Given the description of an element on the screen output the (x, y) to click on. 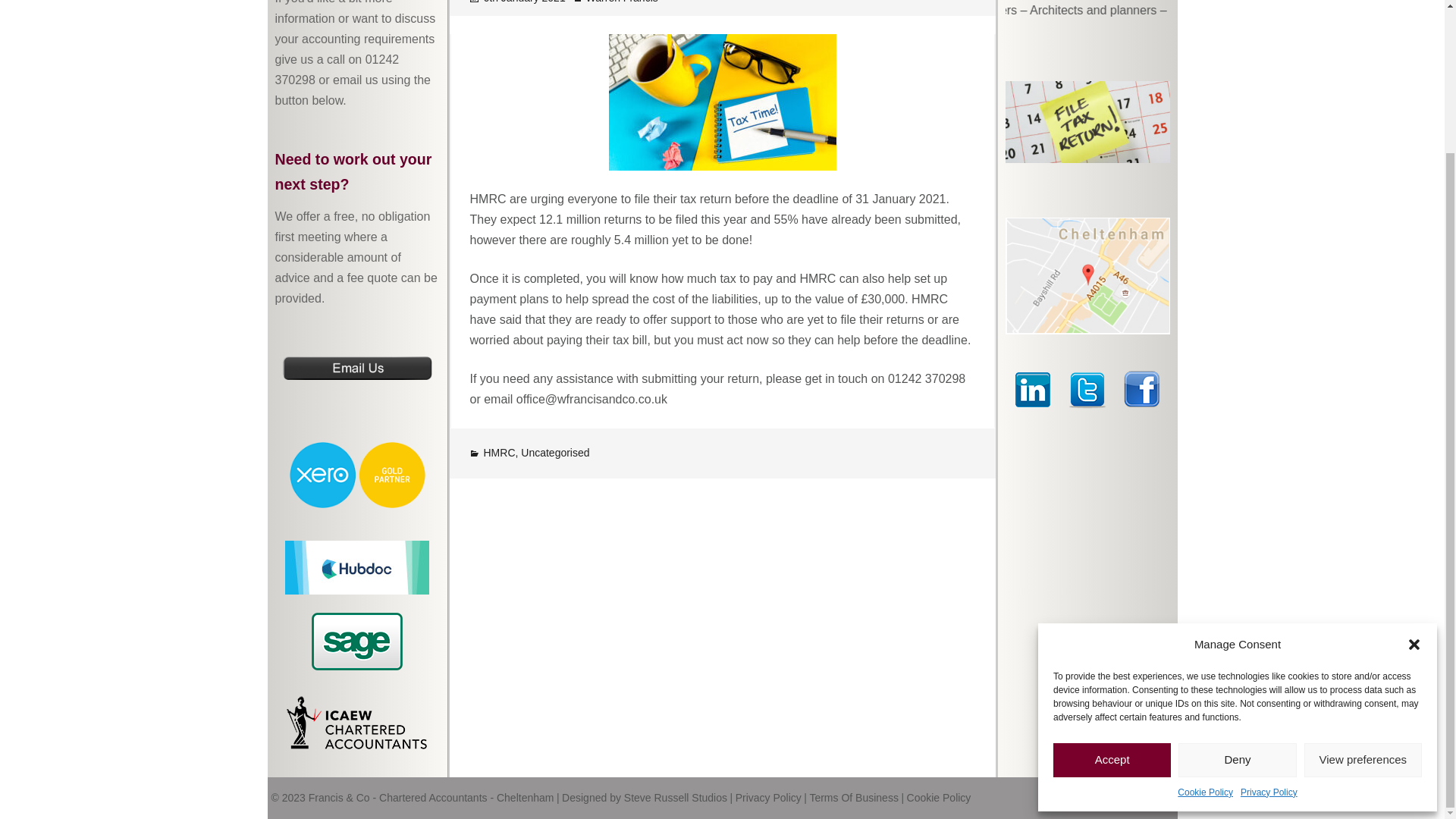
View preferences (1363, 582)
Deny (1236, 582)
Privacy Policy (1268, 614)
Cookie Policy (1205, 614)
Accept (1111, 582)
